Given the description of an element on the screen output the (x, y) to click on. 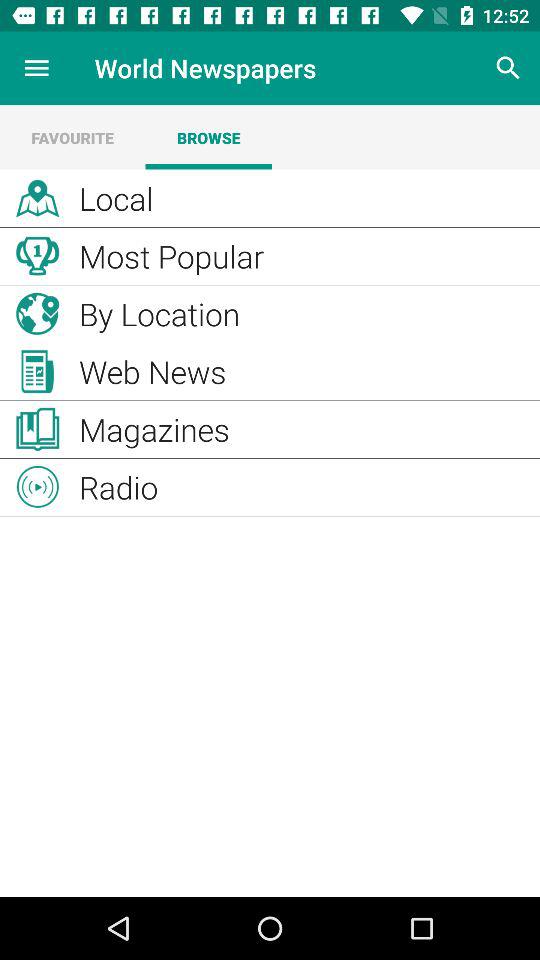
launch icon next to world newspapers item (508, 67)
